Given the description of an element on the screen output the (x, y) to click on. 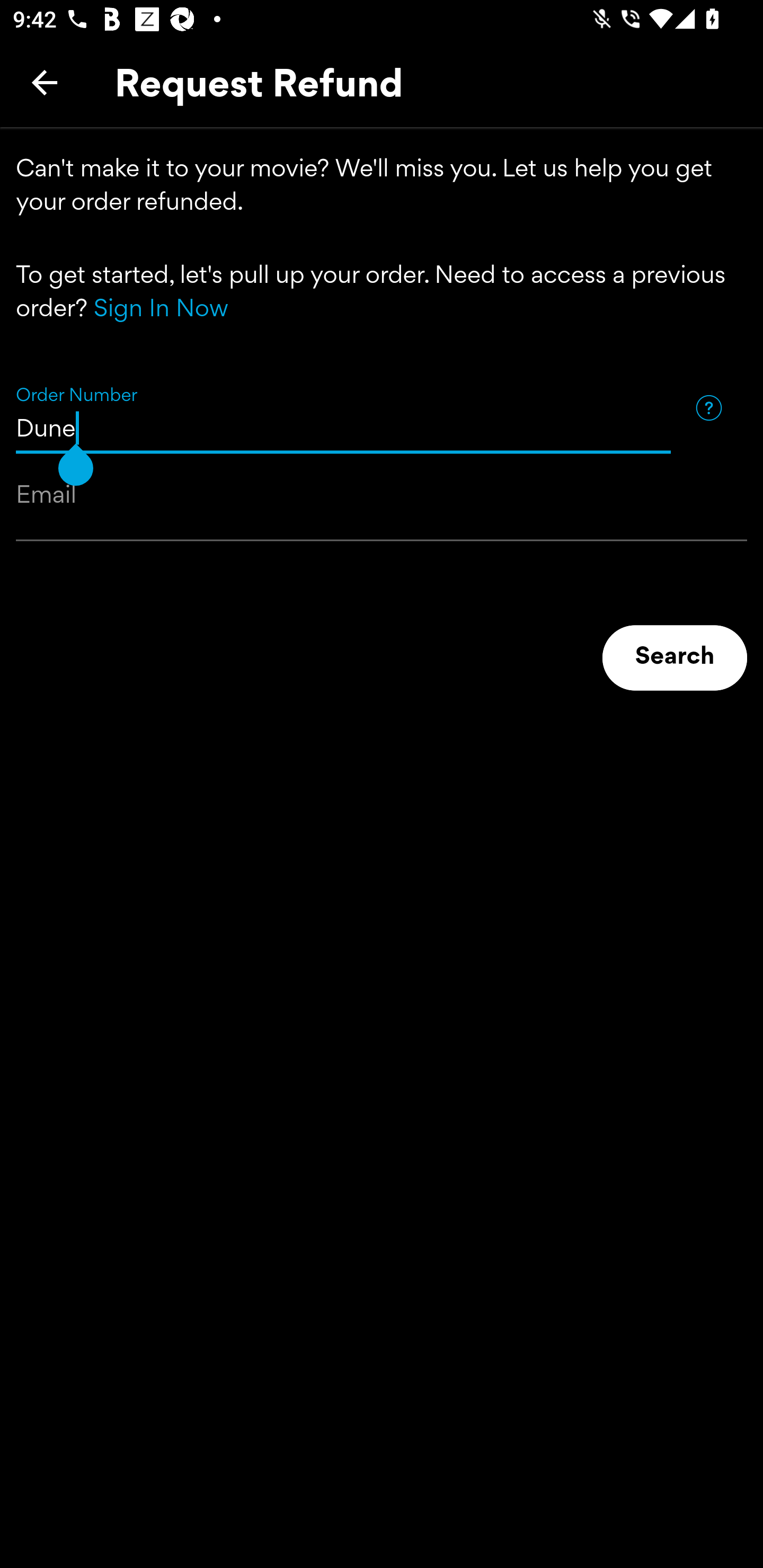
Back (44, 82)
Dune (343, 408)
Help (708, 407)
Search (674, 657)
